Given the description of an element on the screen output the (x, y) to click on. 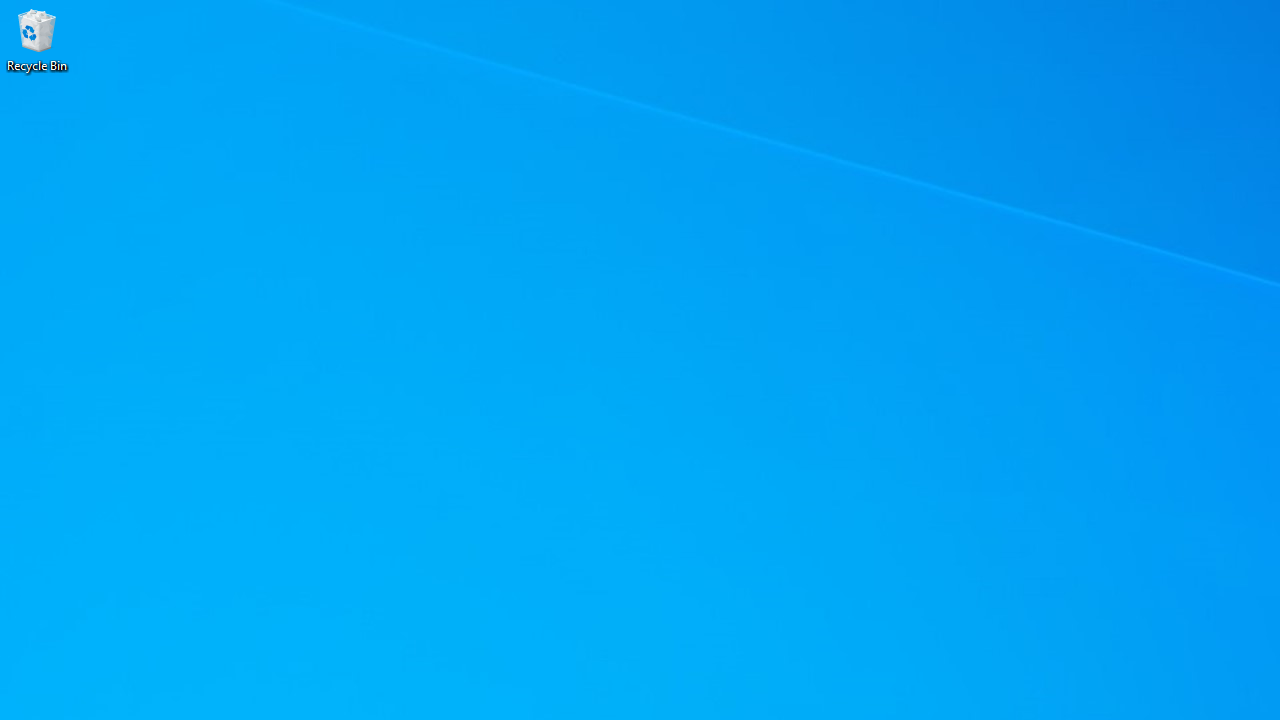
Recycle Bin (37, 39)
